Given the description of an element on the screen output the (x, y) to click on. 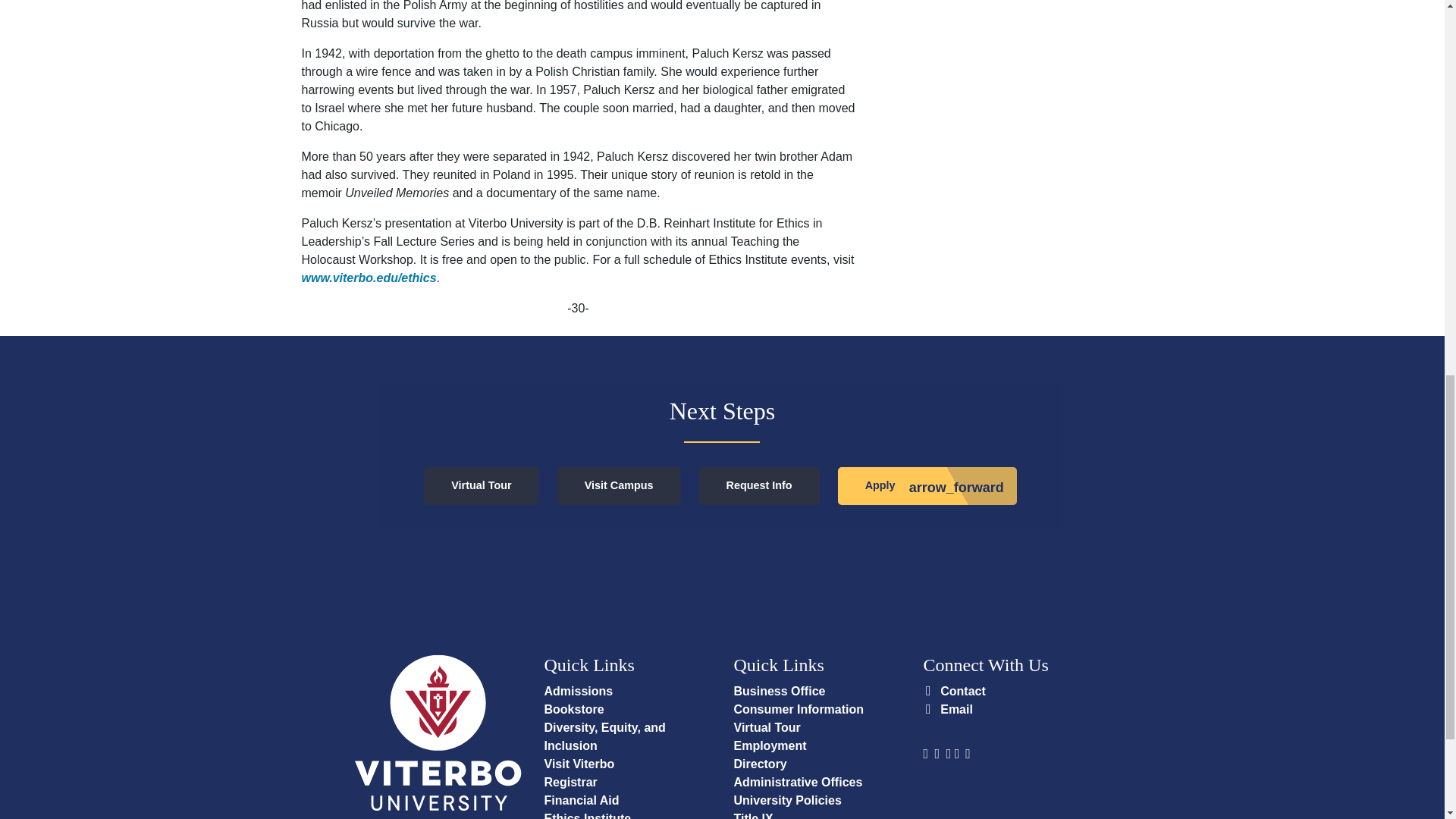
Admissions (578, 690)
Virtual Tour (480, 485)
Virtual Tour (766, 727)
Ethics Institute (587, 815)
Consumer Information (798, 708)
Registrar (570, 781)
Apply (927, 485)
Request Info (758, 485)
Financial Aid (582, 799)
Visit Viterbo (579, 763)
Diversity, Equity, and Inclusion (604, 736)
Business Office (779, 690)
Visit Campus (619, 485)
Bookstore (574, 708)
